Given the description of an element on the screen output the (x, y) to click on. 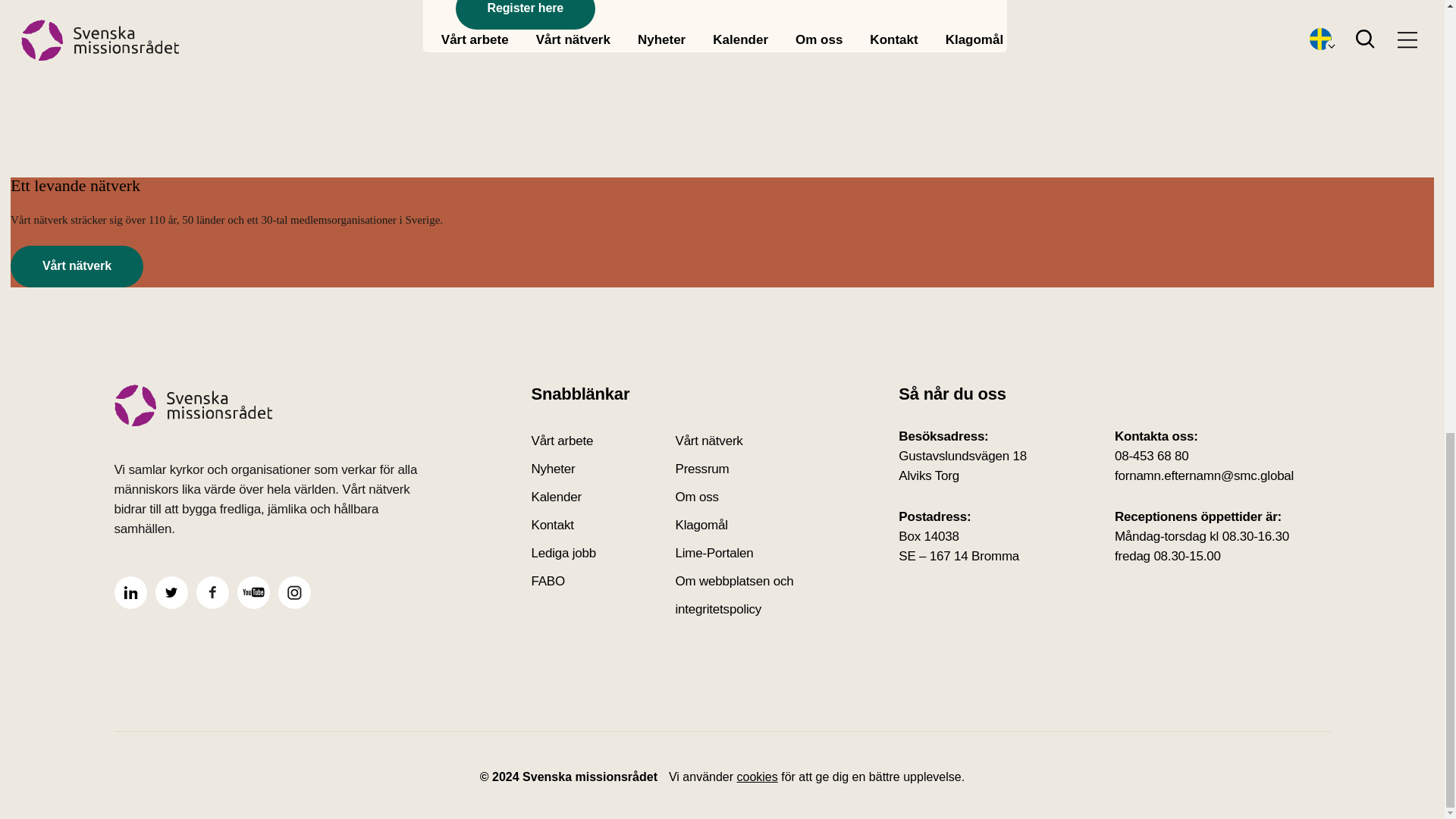
FABO (603, 595)
Lediga jobb (603, 552)
Lime-Portalen (746, 552)
Om webbplatsen och integritetspolicy (746, 595)
Kalender (603, 497)
Pressrum (746, 469)
Kontakt (603, 524)
Om oss (746, 497)
Nyheter (603, 469)
